Given the description of an element on the screen output the (x, y) to click on. 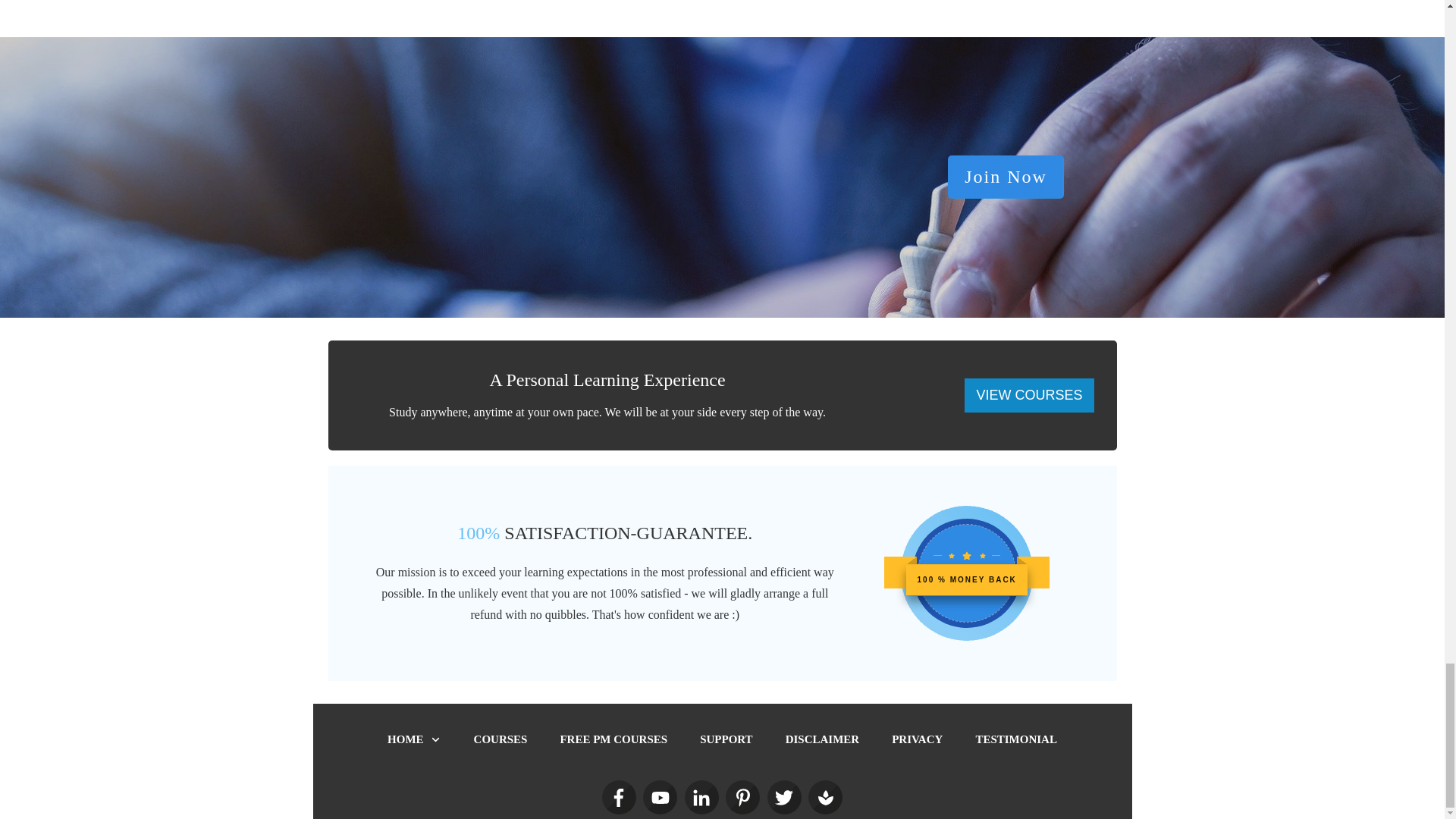
Join Now (1005, 177)
